Given the description of an element on the screen output the (x, y) to click on. 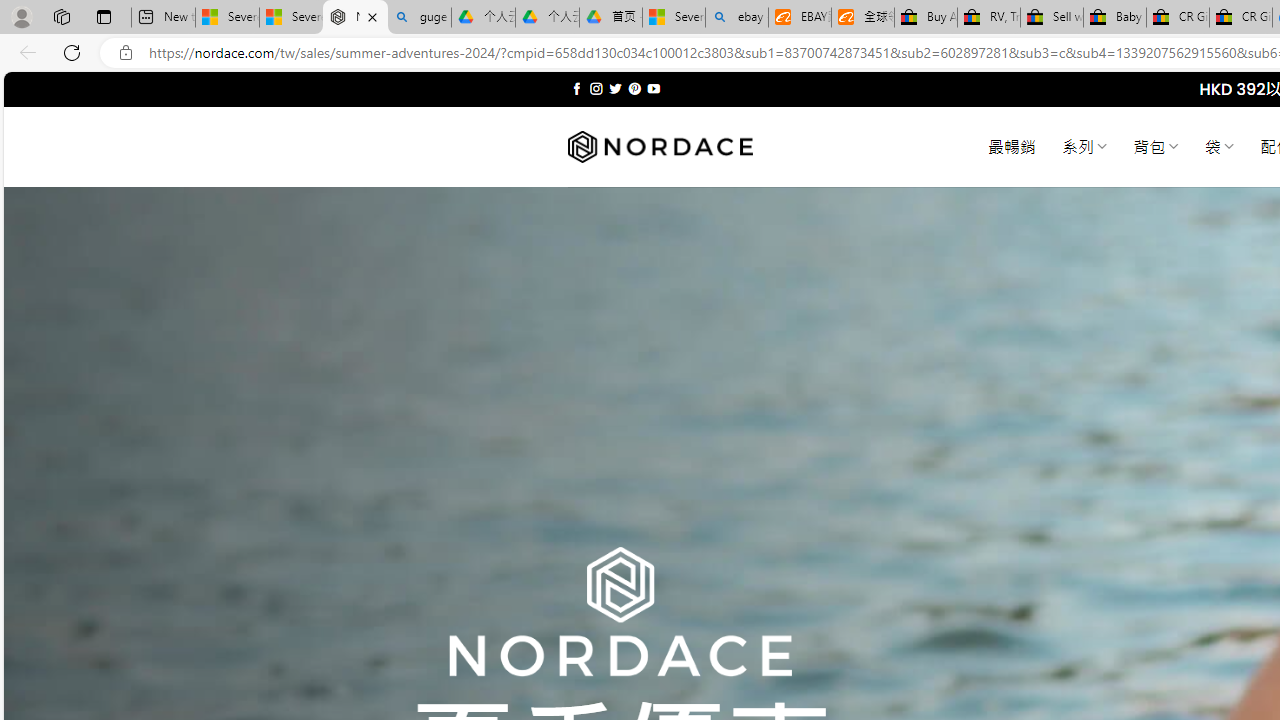
Nordace (659, 147)
Nordace (659, 147)
Sell worldwide with eBay (1051, 17)
guge yunpan - Search (418, 17)
Refresh (72, 52)
Follow on YouTube (653, 88)
Baby Keepsakes & Announcements for sale | eBay (1114, 17)
Close tab (372, 16)
View site information (125, 53)
Follow on Twitter (615, 88)
Tab actions menu (104, 16)
